Given the description of an element on the screen output the (x, y) to click on. 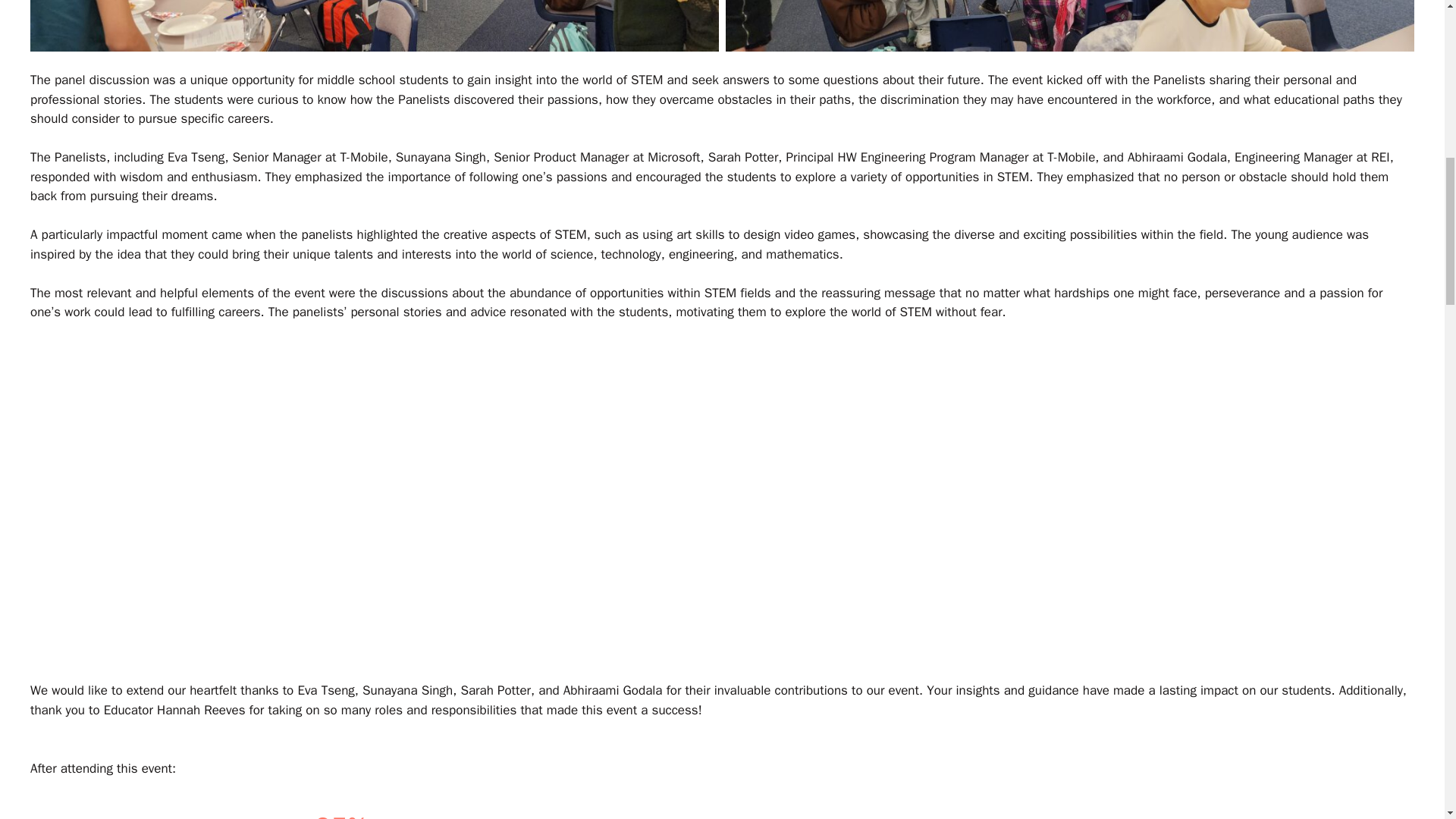
Scroll back to top (1406, 720)
